Given the description of an element on the screen output the (x, y) to click on. 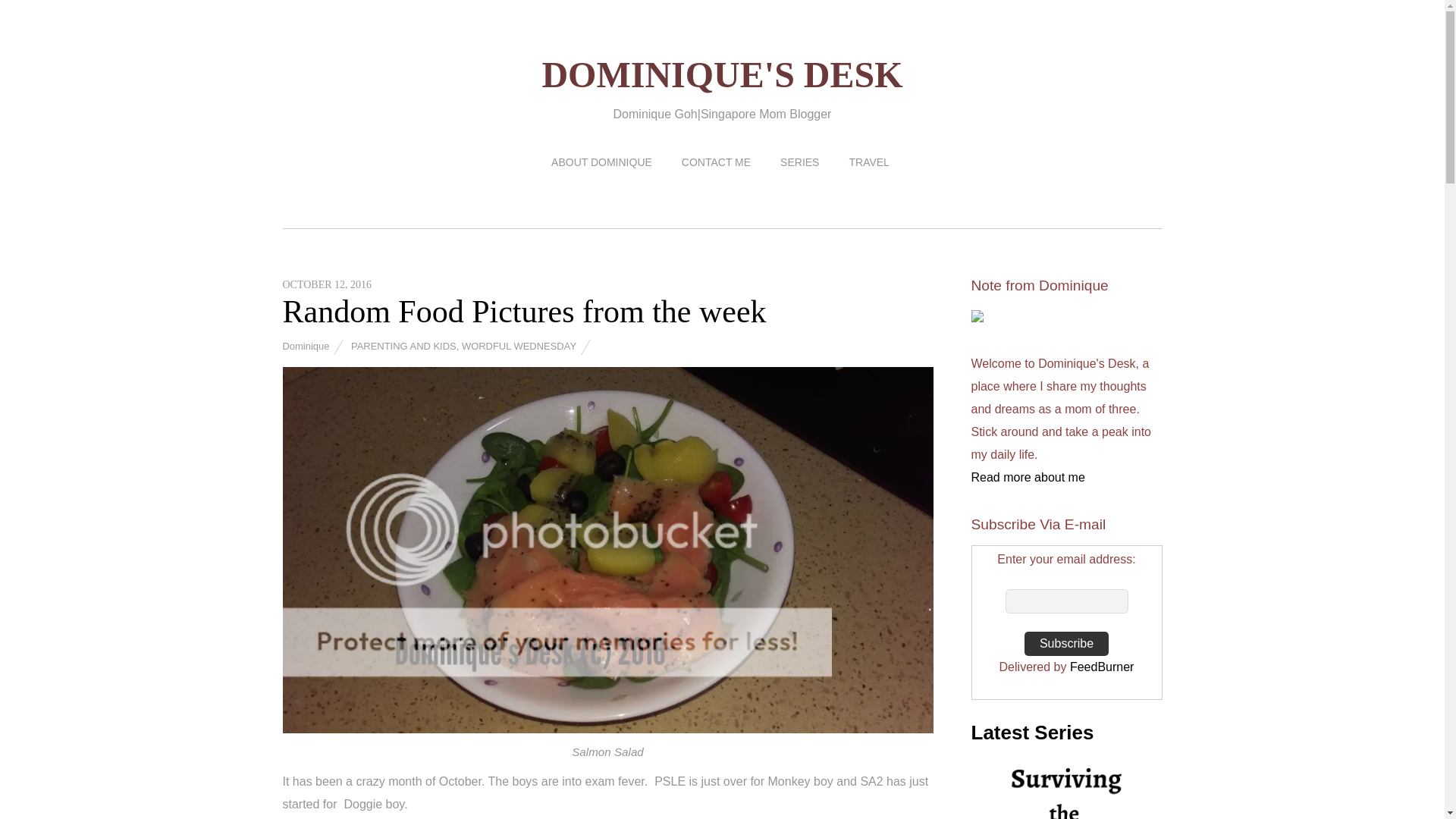
PARENTING AND KIDS (403, 346)
Random Food  Pictures from the week (523, 311)
Dominique's Desk  (721, 74)
Posts by Dominique (305, 346)
Subscribe (1066, 643)
CONTACT ME (715, 162)
Read more about me (1027, 477)
ABOUT DOMINIQUE (601, 162)
Dominique (305, 346)
Subscribe (1066, 643)
FeedBurner (1102, 666)
SERIES (798, 162)
Random Food Pictures from the week (523, 311)
DOMINIQUE'S DESK (721, 74)
TRAVEL (868, 162)
